Given the description of an element on the screen output the (x, y) to click on. 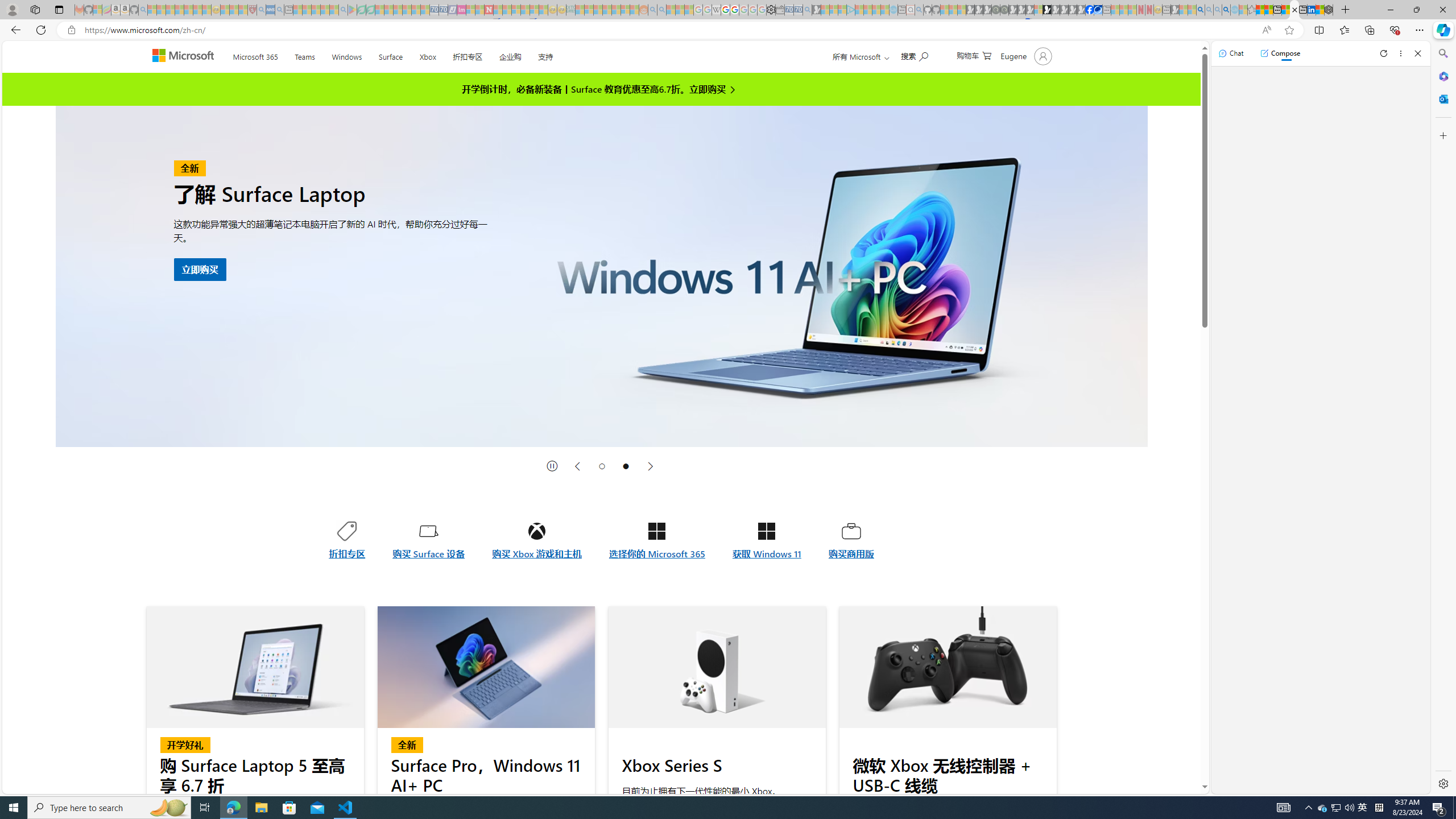
Target page - Wikipedia - Sleeping (716, 9)
Surface (390, 54)
Address and search bar (669, 29)
NCL Adult Asthma Inhaler Choice Guideline - Sleeping (269, 9)
Close Customize pane (1442, 135)
New Report Confirms 2023 Was Record Hot | Watch - Sleeping (188, 9)
